Given the description of an element on the screen output the (x, y) to click on. 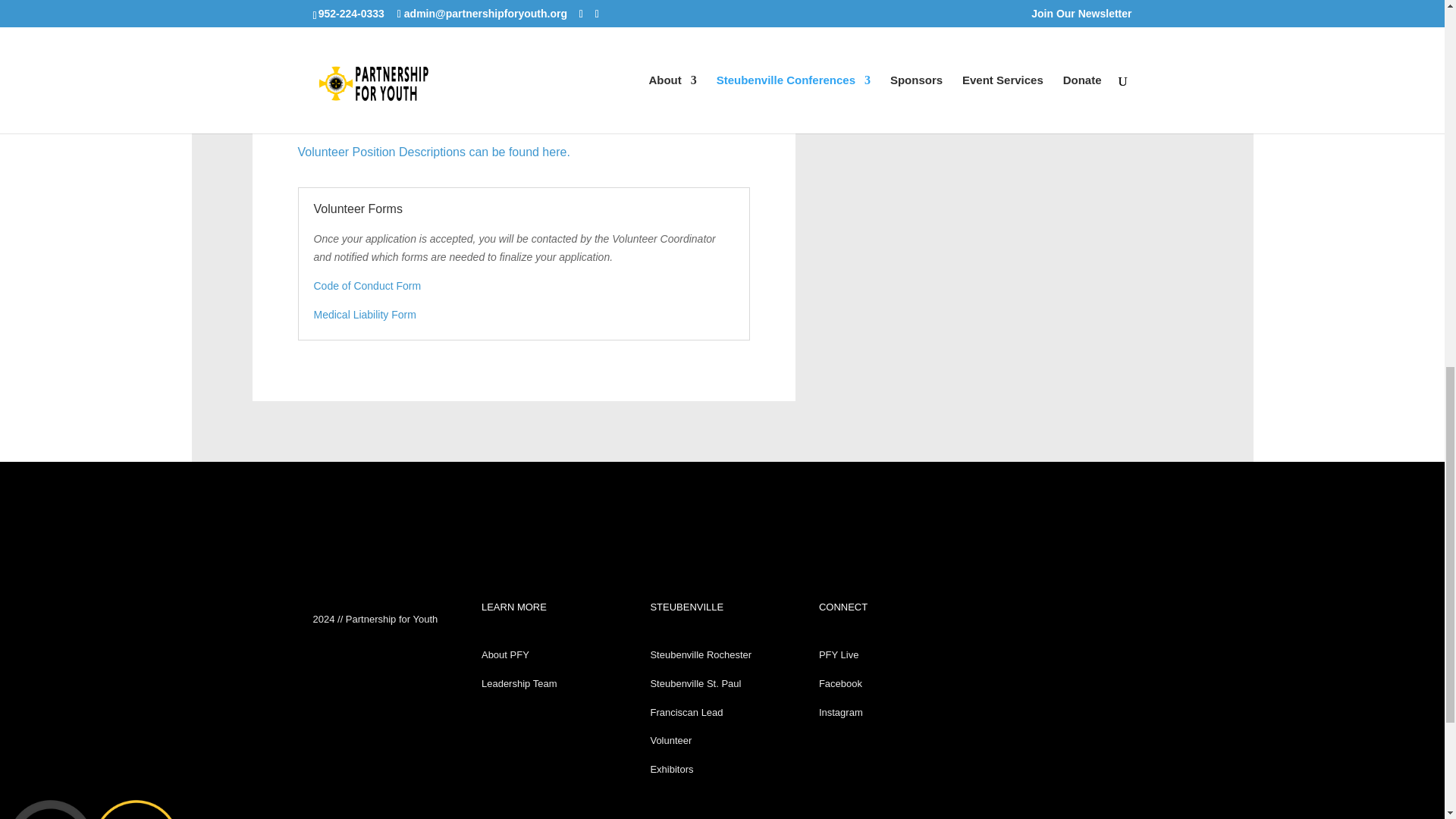
Volunteer Position Descriptions can be found here. (433, 151)
Code of Conduct Form (368, 285)
Medical Liability Form (365, 314)
